Given the description of an element on the screen output the (x, y) to click on. 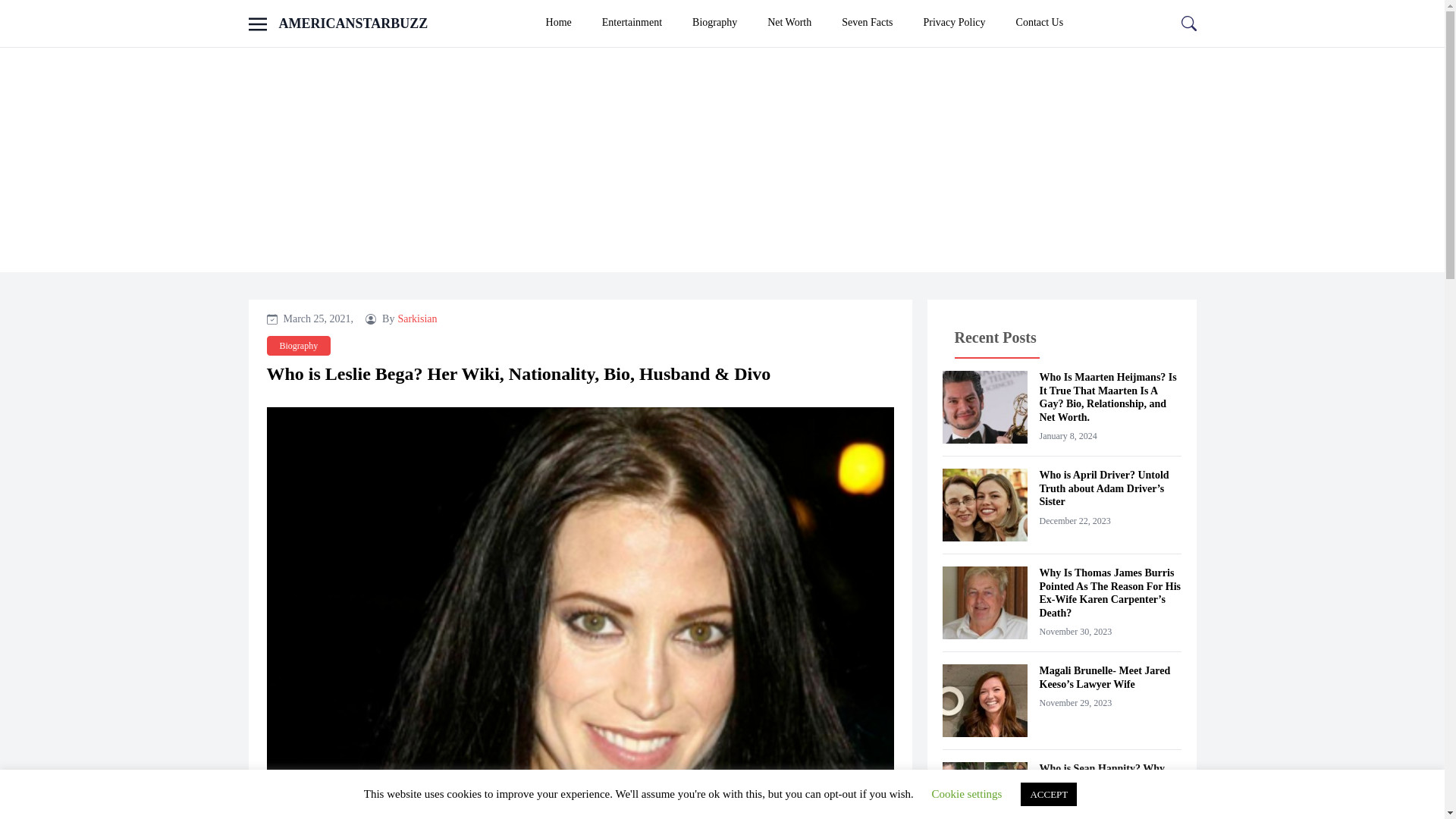
Seven Facts (867, 22)
Privacy Policy (954, 22)
Net Worth (789, 22)
Biography (714, 22)
Entertainment (631, 22)
Biography (298, 345)
AMERICANSTARBUZZ (353, 23)
Contact Us (1039, 22)
Sarkisian (416, 319)
Home (558, 22)
